Given the description of an element on the screen output the (x, y) to click on. 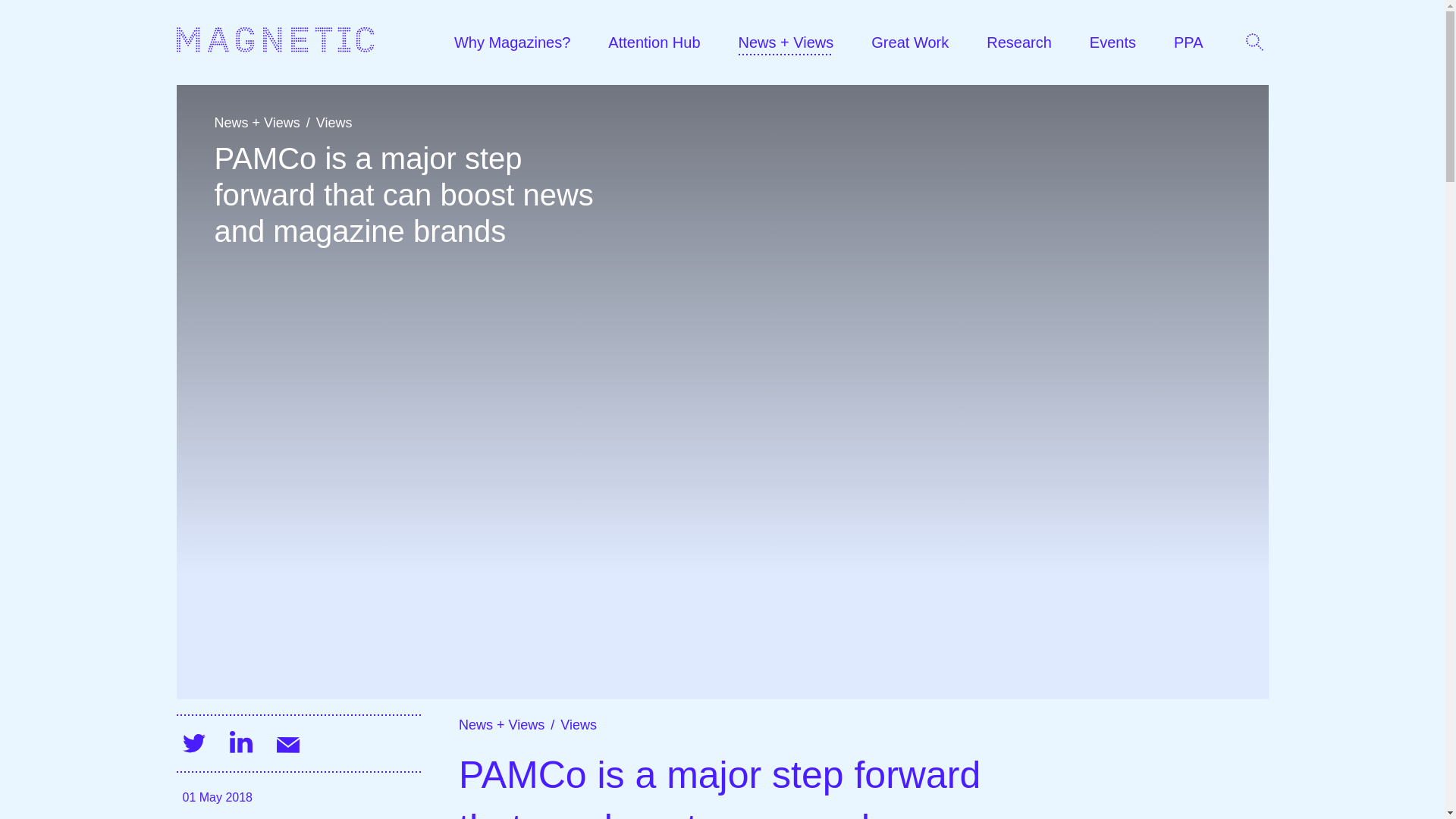
View all posts in Views (333, 123)
Research (1019, 42)
View all posts in Views (578, 725)
Events (1112, 42)
Attention Hub (654, 42)
Great Work (909, 42)
Views (333, 123)
PPA (1188, 42)
Why Magazines? (512, 42)
Views (578, 725)
